Given the description of an element on the screen output the (x, y) to click on. 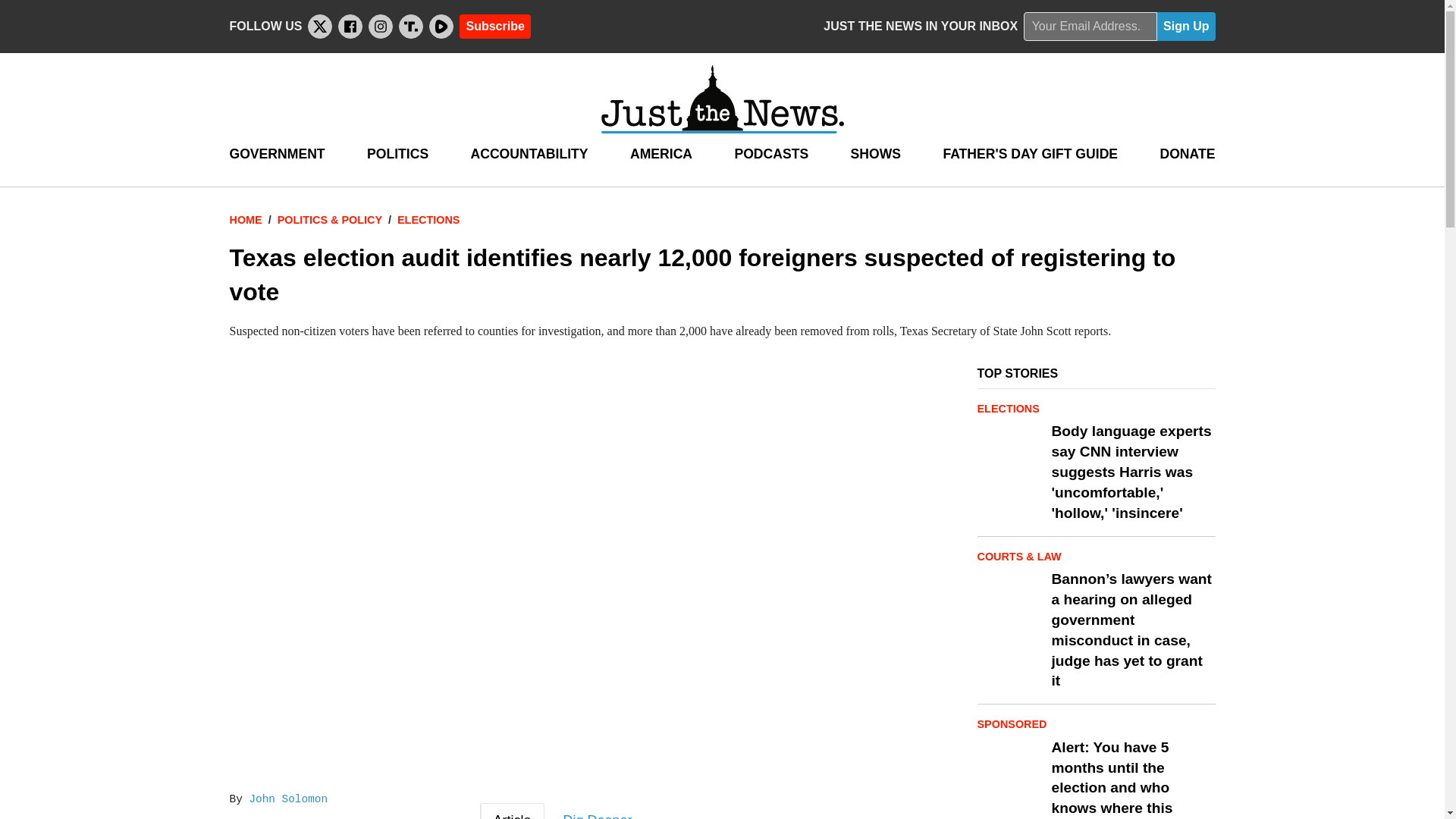
DONATE (1186, 153)
FATHER'S DAY GIFT GUIDE (1030, 153)
Sign Up (1185, 26)
PODCASTS (770, 153)
Subscribe (494, 26)
POLITICS (397, 153)
AMERICA (661, 153)
GOVERNMENT (276, 153)
ACCOUNTABILITY (529, 153)
